Given the description of an element on the screen output the (x, y) to click on. 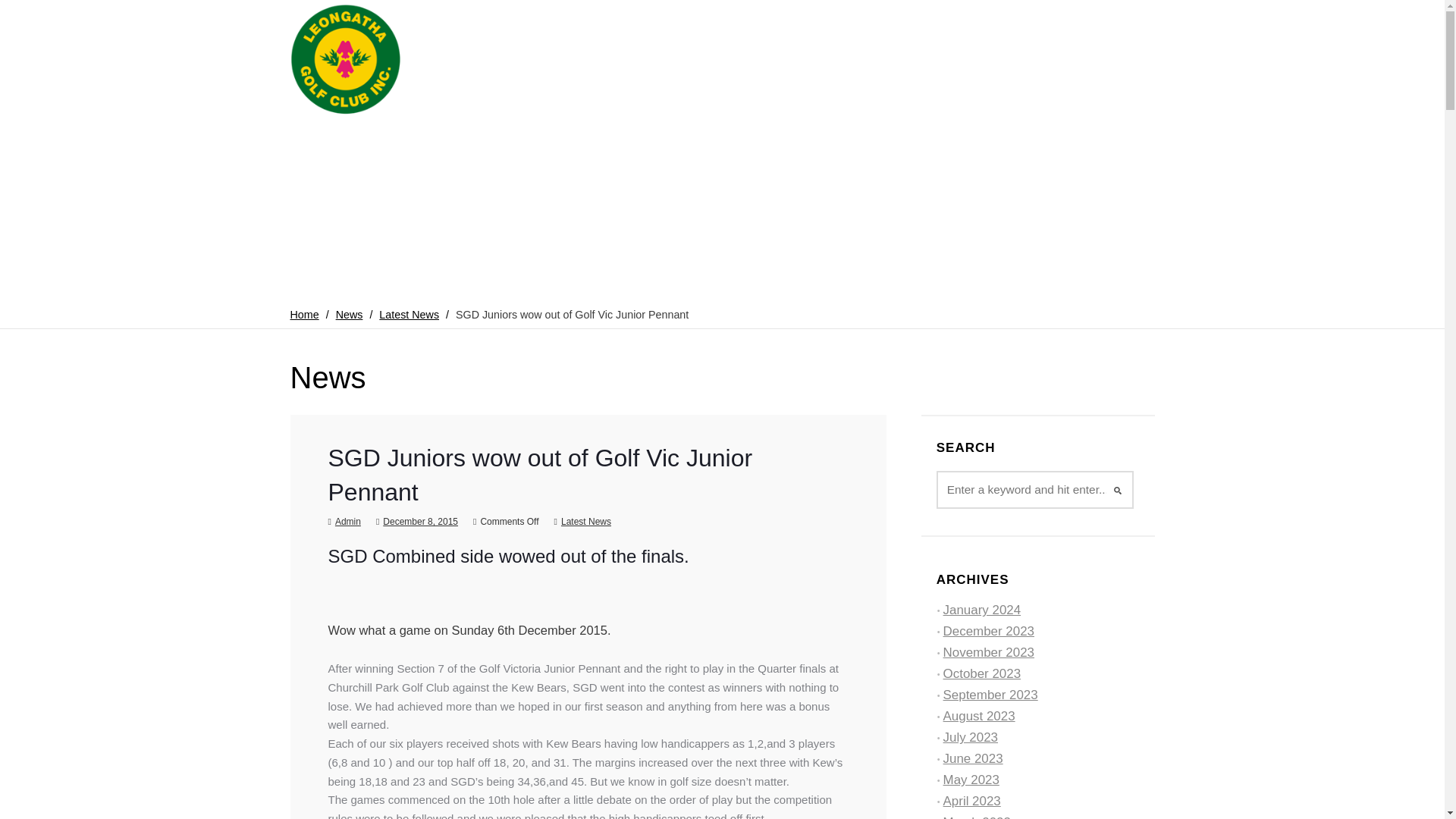
Leongatha Golf Club (346, 60)
Go to the Latest News Category archives. (408, 315)
THE COURSE (722, 143)
ABOUT US (474, 143)
NEWS AND RESULTS (839, 143)
HOME (405, 143)
GOLF (641, 143)
Go to News. (349, 315)
Posts by Admin (347, 521)
MEMBERSHIP (564, 143)
